Given the description of an element on the screen output the (x, y) to click on. 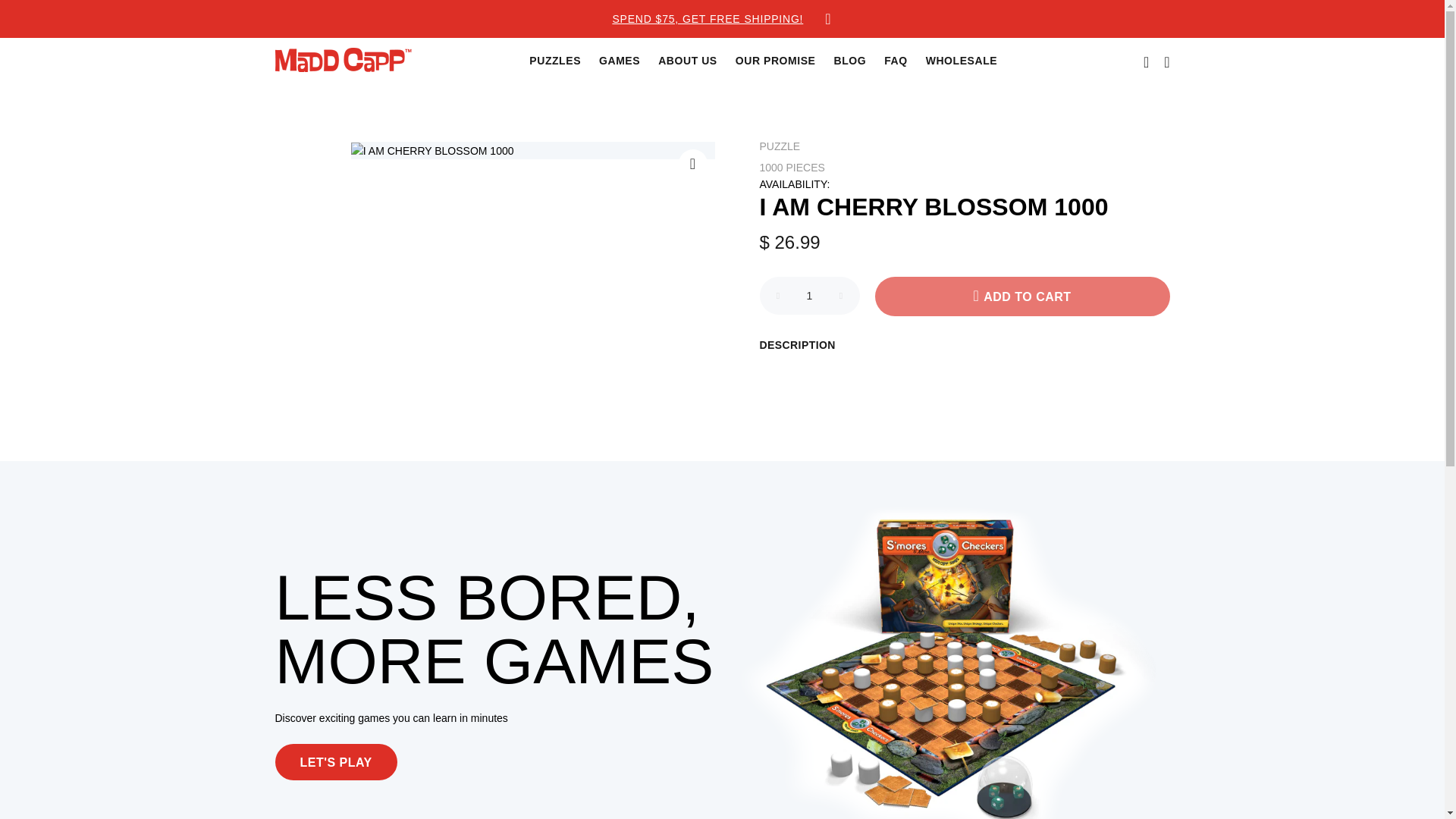
PUZZLES (554, 60)
ABOUT US (687, 60)
FAQ (895, 60)
WHOLESALE (957, 60)
OUR PROMISE (775, 60)
1 (810, 295)
BLOG (850, 60)
GAMES (619, 60)
